Given the description of an element on the screen output the (x, y) to click on. 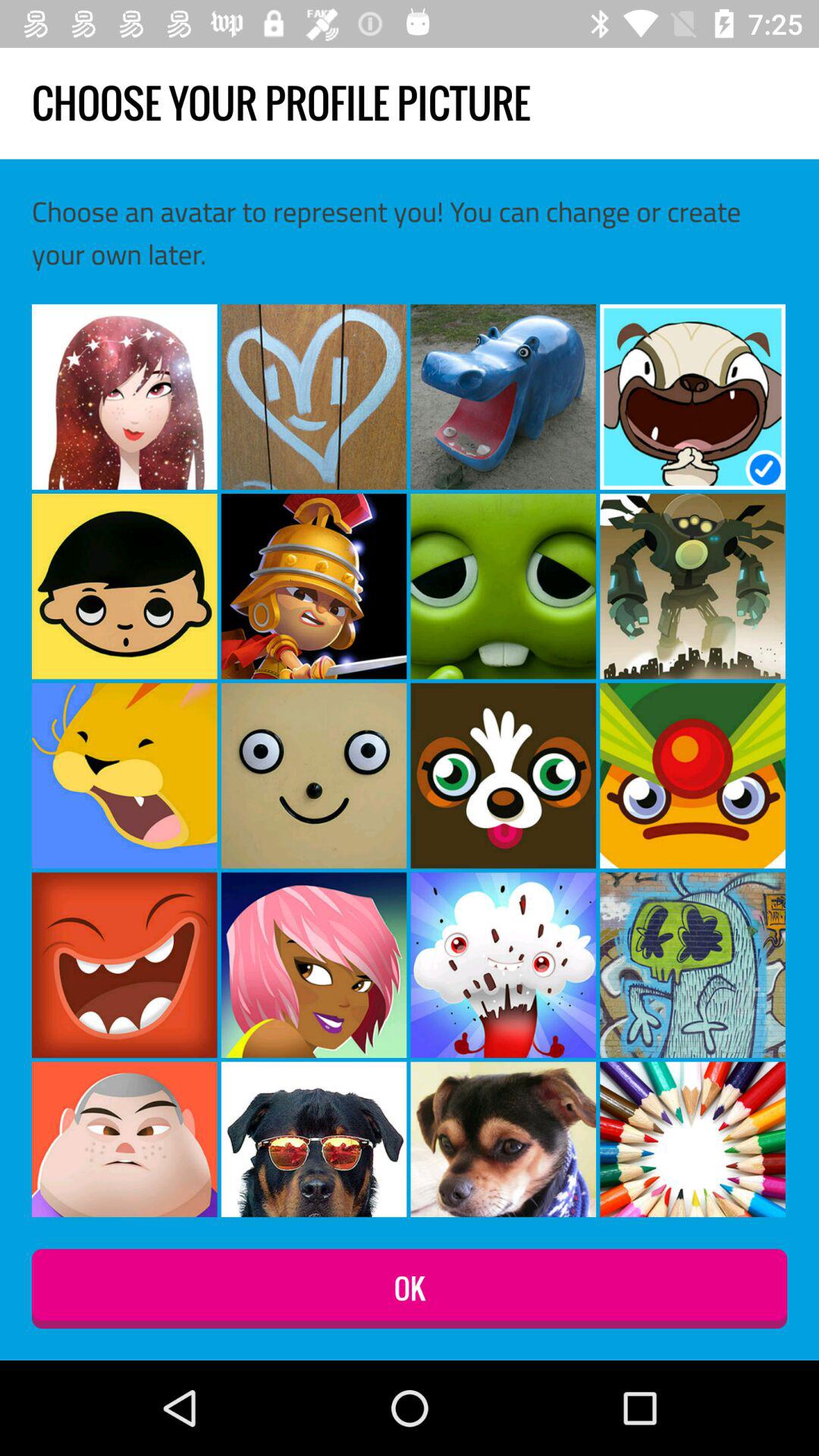
jump to ok (409, 1288)
